Given the description of an element on the screen output the (x, y) to click on. 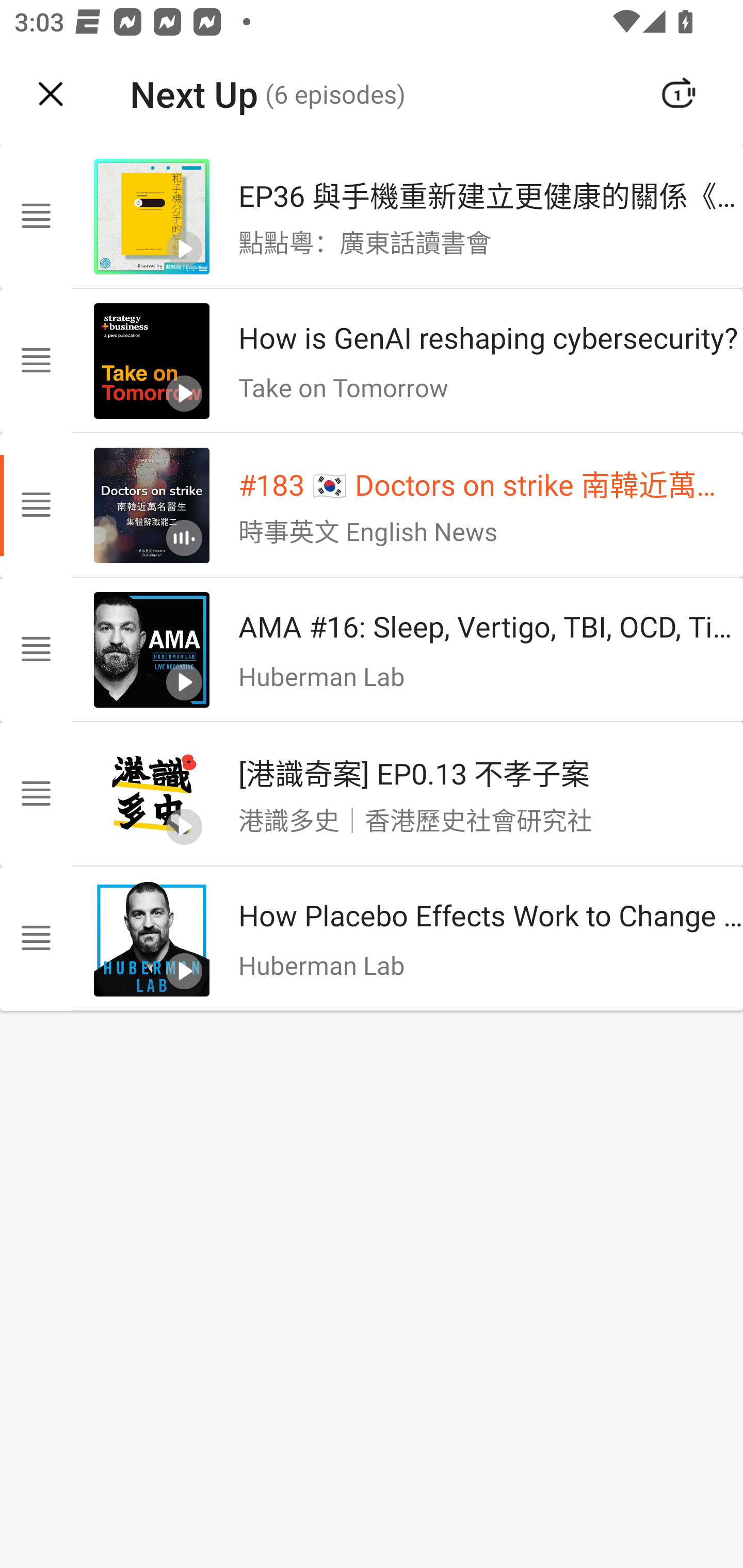
Navigate up (50, 93)
